Given the description of an element on the screen output the (x, y) to click on. 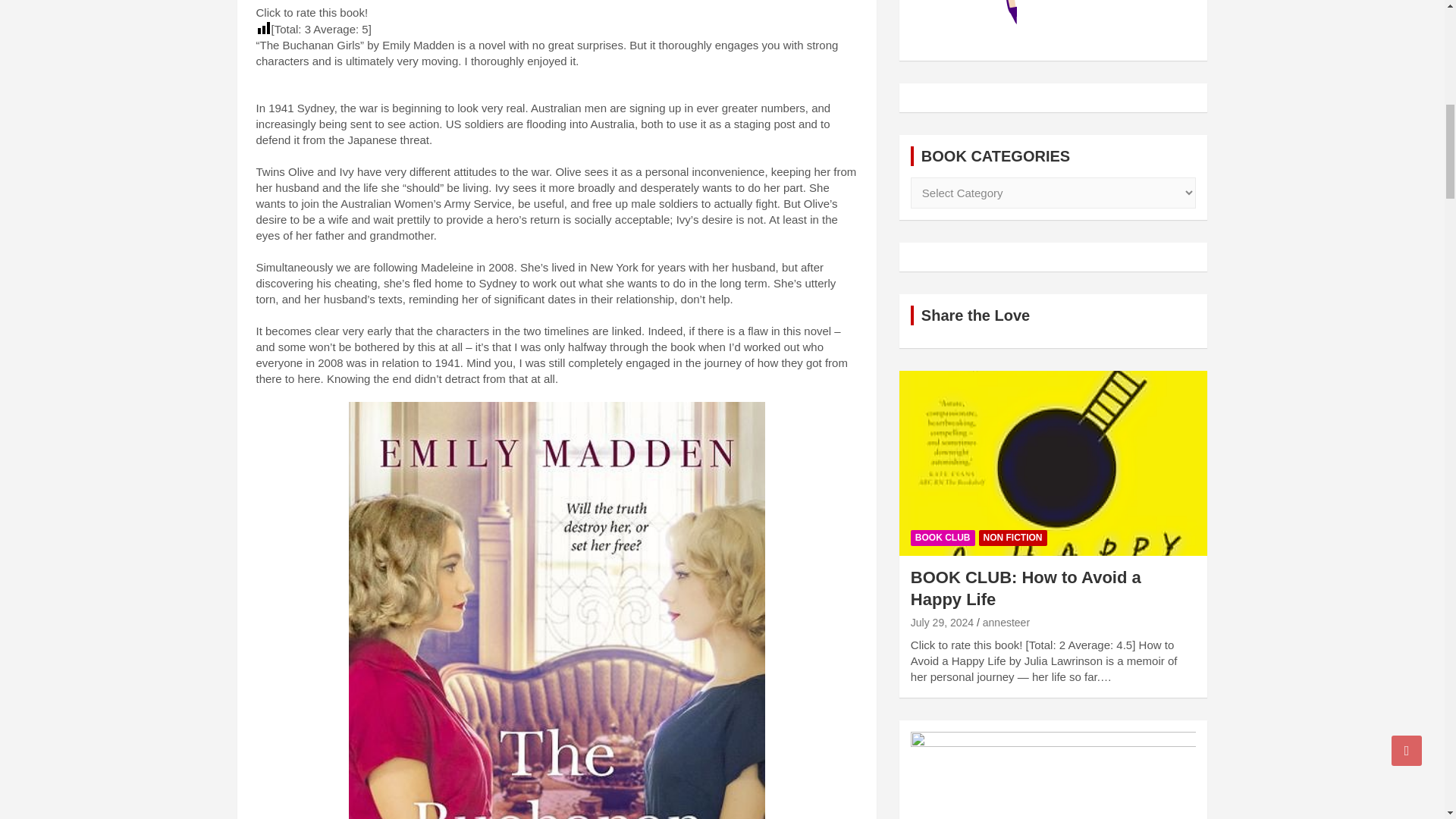
BOOK CLUB: How to Avoid a Happy Life (942, 622)
